Given the description of an element on the screen output the (x, y) to click on. 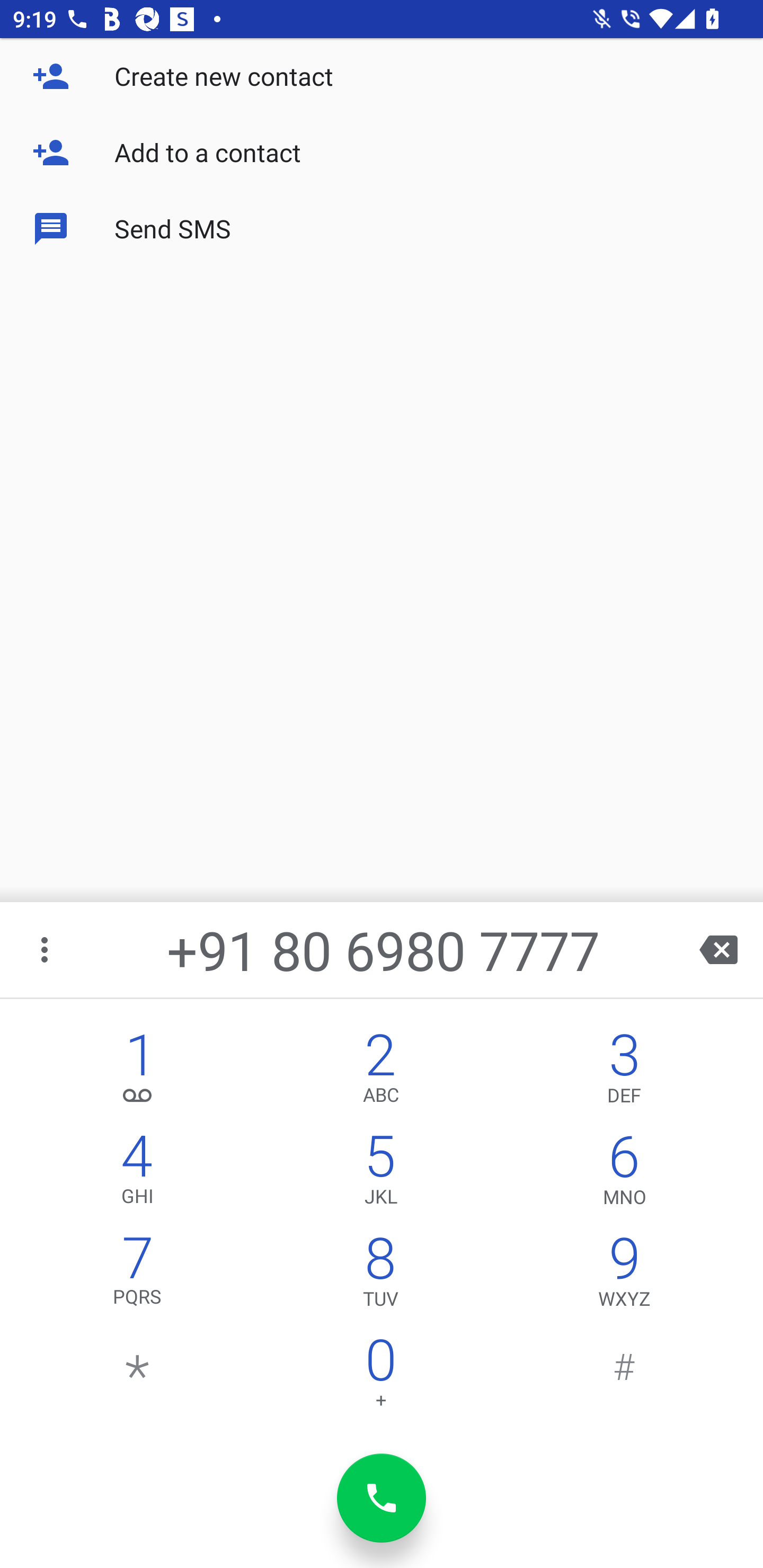
Create new contact (381, 75)
Add to a contact (381, 152)
Send SMS (381, 228)
+91 80 6980 7777 (382, 949)
backspace (718, 949)
More options (45, 949)
1, 1 (137, 1071)
2,ABC 2 ABC (380, 1071)
3,DEF 3 DEF (624, 1071)
4,GHI 4 GHI (137, 1173)
5,JKL 5 JKL (380, 1173)
6,MNO 6 MNO (624, 1173)
7,PQRS 7 PQRS (137, 1275)
8,TUV 8 TUV (380, 1275)
9,WXYZ 9 WXYZ (624, 1275)
* (137, 1377)
0 0 + (380, 1377)
# (624, 1377)
dial (381, 1497)
